Given the description of an element on the screen output the (x, y) to click on. 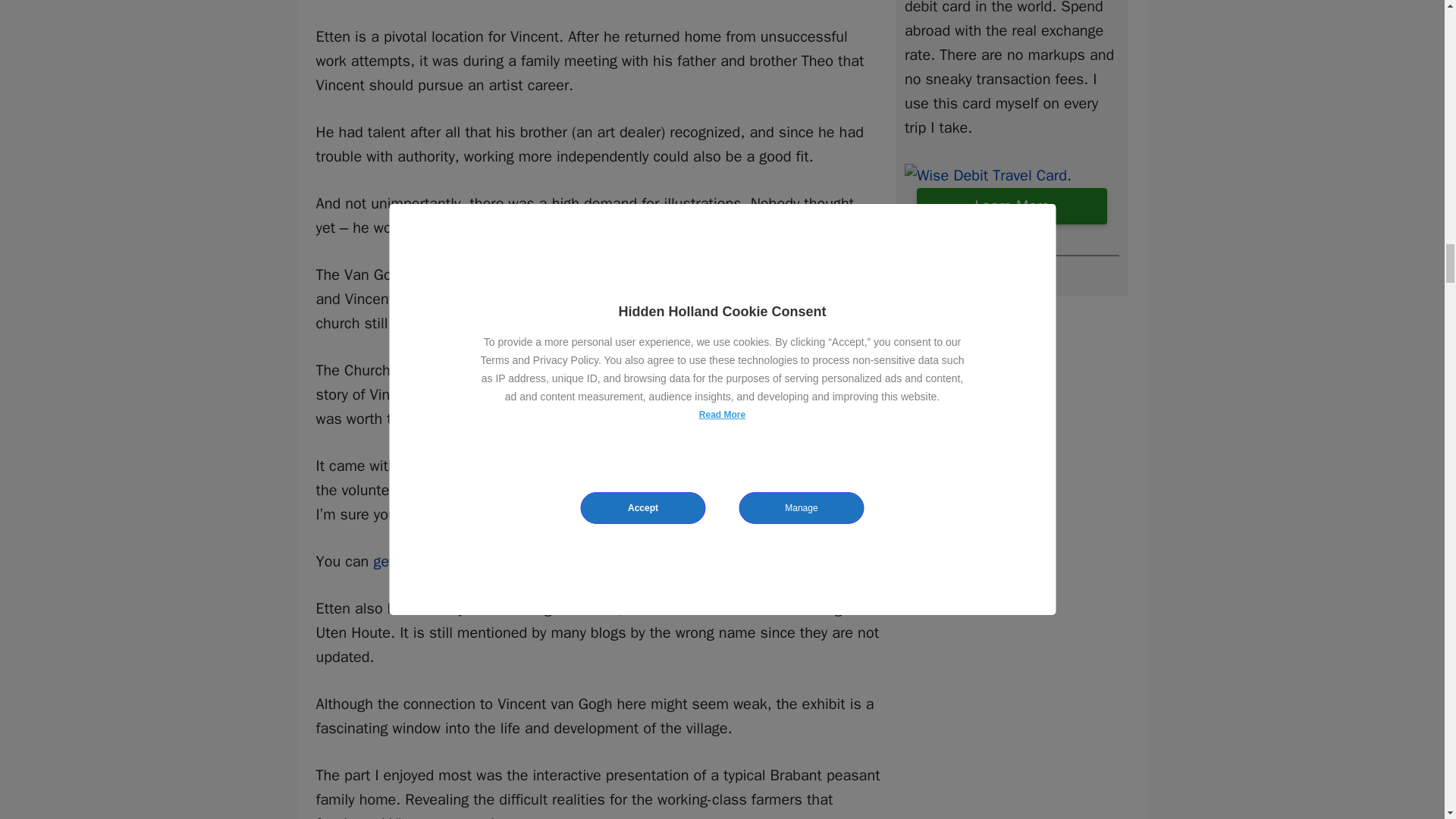
wise-debit-card (987, 175)
